Given the description of an element on the screen output the (x, y) to click on. 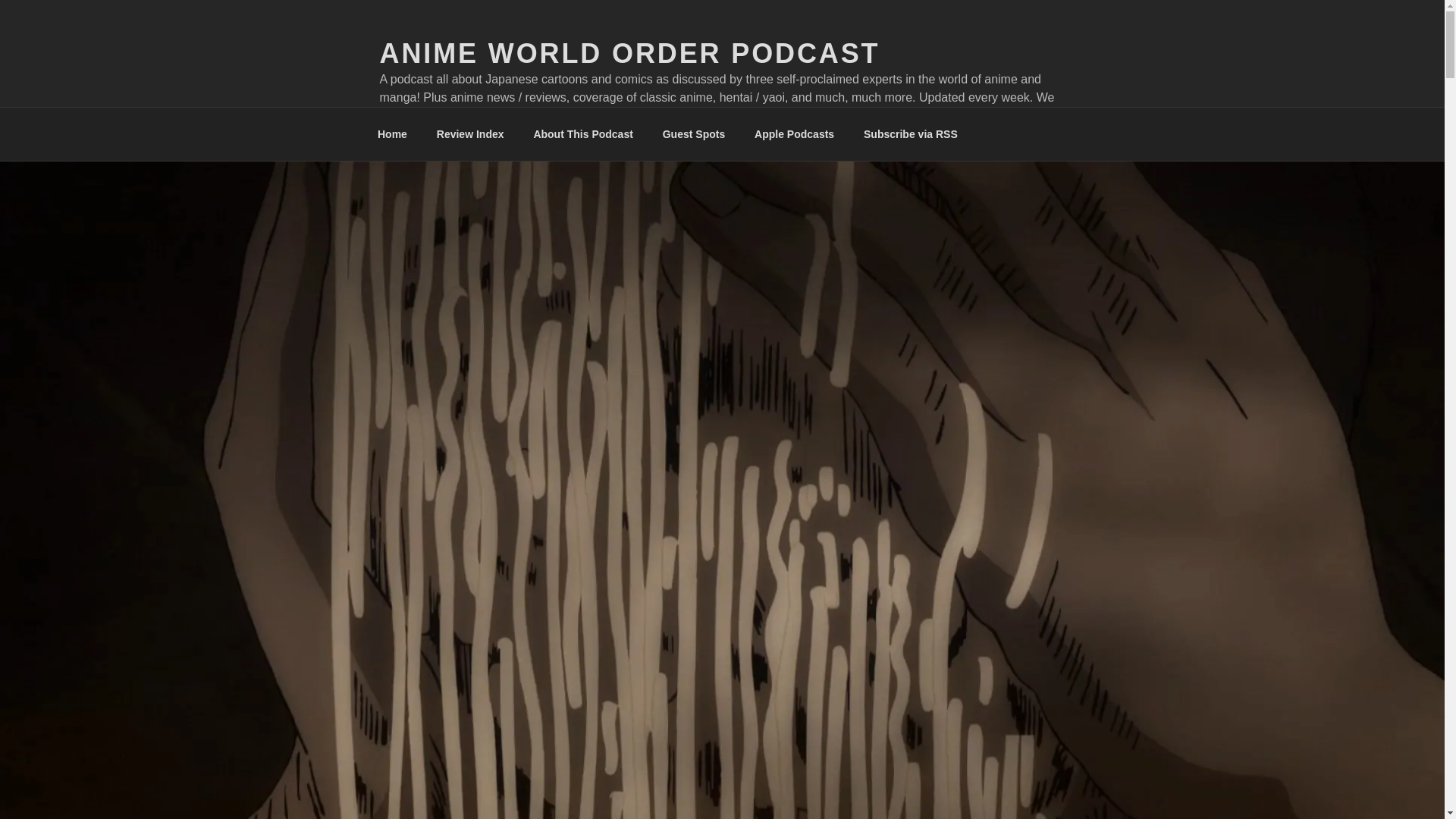
Review Index (469, 133)
About This Podcast (582, 133)
ANIME WORLD ORDER PODCAST (628, 52)
Apple Podcasts (794, 133)
Home (392, 133)
Guest Spots (693, 133)
Subscribe via RSS (910, 133)
